Given the description of an element on the screen output the (x, y) to click on. 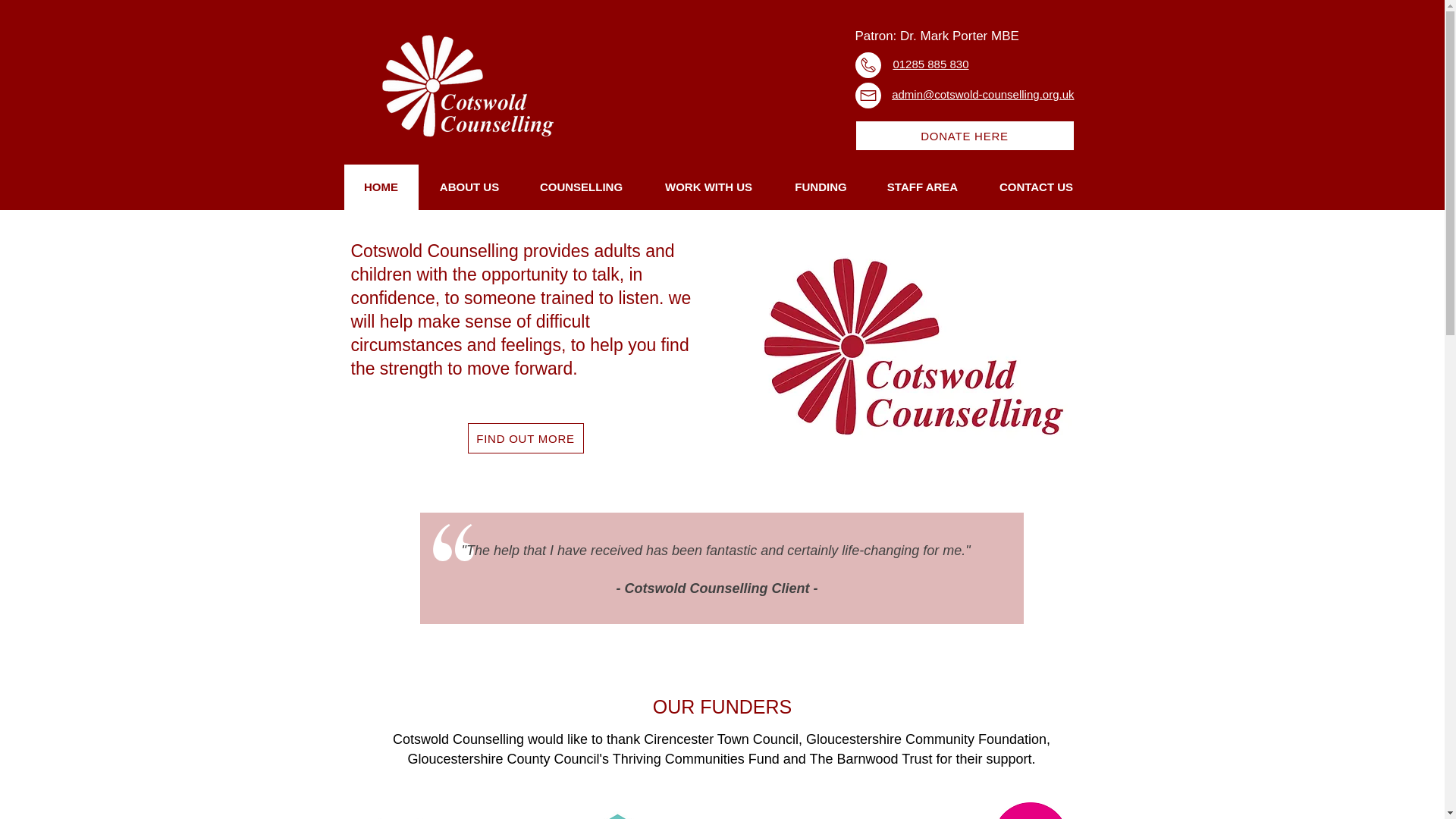
STAFF AREA (921, 186)
HOME (381, 186)
01285 885 830 (930, 63)
CONTACT US (1036, 186)
ABOUT US (469, 186)
COUNSELLING (580, 186)
WORK WITH US (708, 186)
FUNDING (820, 186)
FIND OUT MORE (525, 438)
DONATE HERE (965, 135)
